Given the description of an element on the screen output the (x, y) to click on. 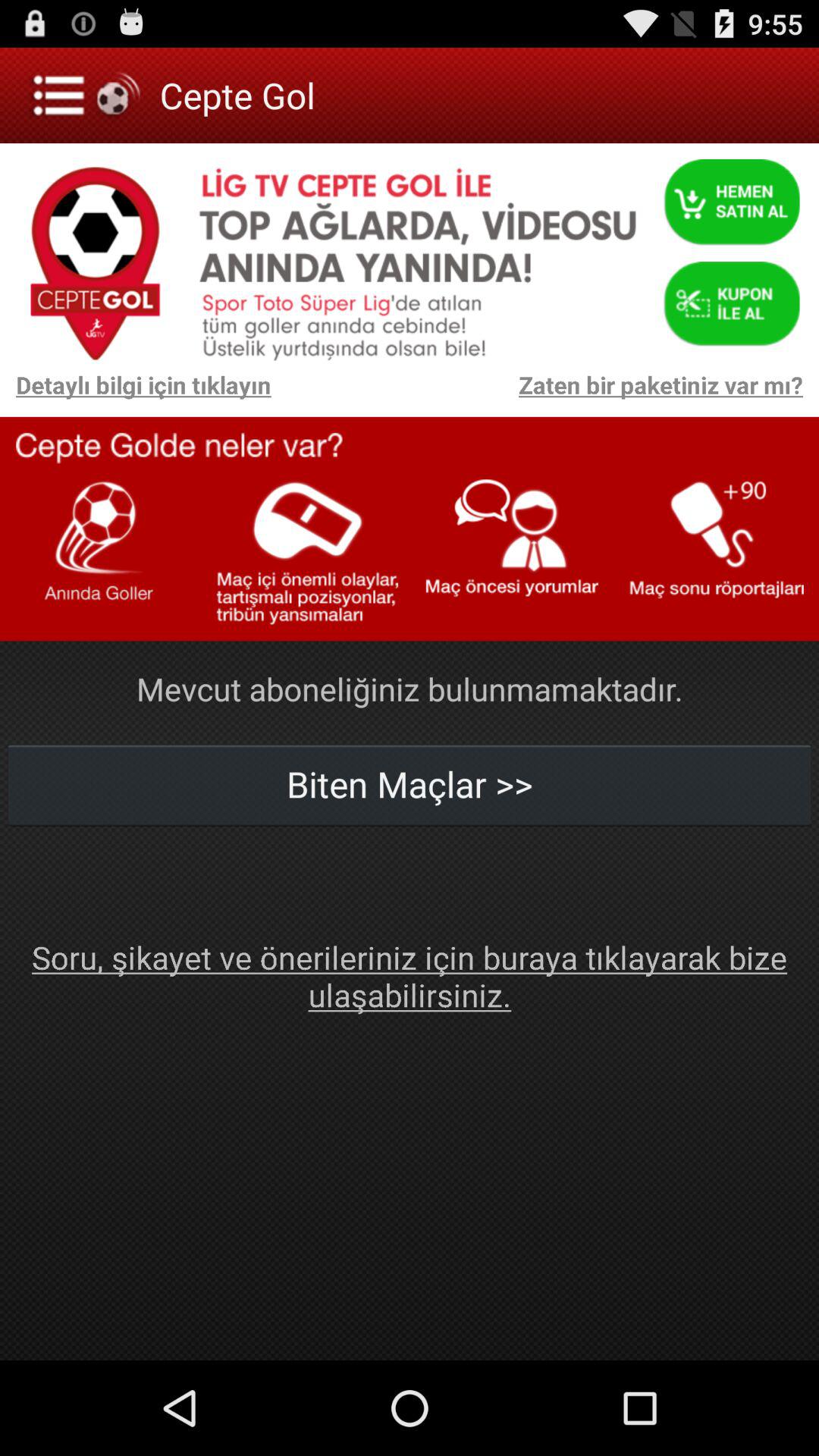
select icon at the bottom (409, 975)
